Given the description of an element on the screen output the (x, y) to click on. 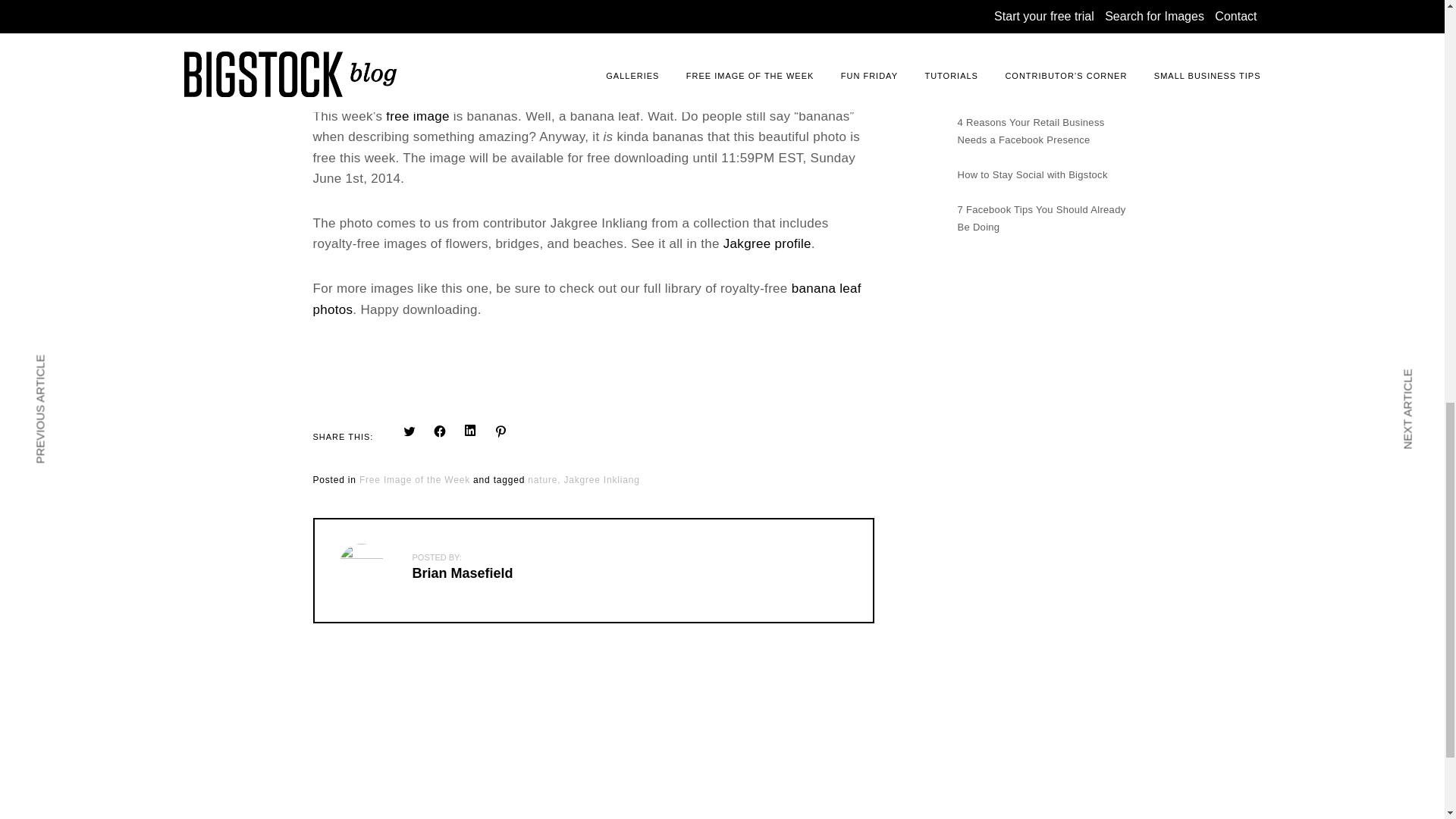
Click to share on Facebook (439, 431)
Jakgree Inkliang (601, 480)
nature (543, 480)
Sandbox Post (989, 34)
Free Image of the Week (414, 480)
banana leaf photos (586, 298)
Click to share on LinkedIn (469, 431)
Click to share on Pinterest (499, 431)
free image (416, 116)
Posts by Brian Masefield (462, 572)
Click to share on Twitter (409, 431)
Jakgree profile (766, 243)
Brian Masefield (462, 572)
